Given the description of an element on the screen output the (x, y) to click on. 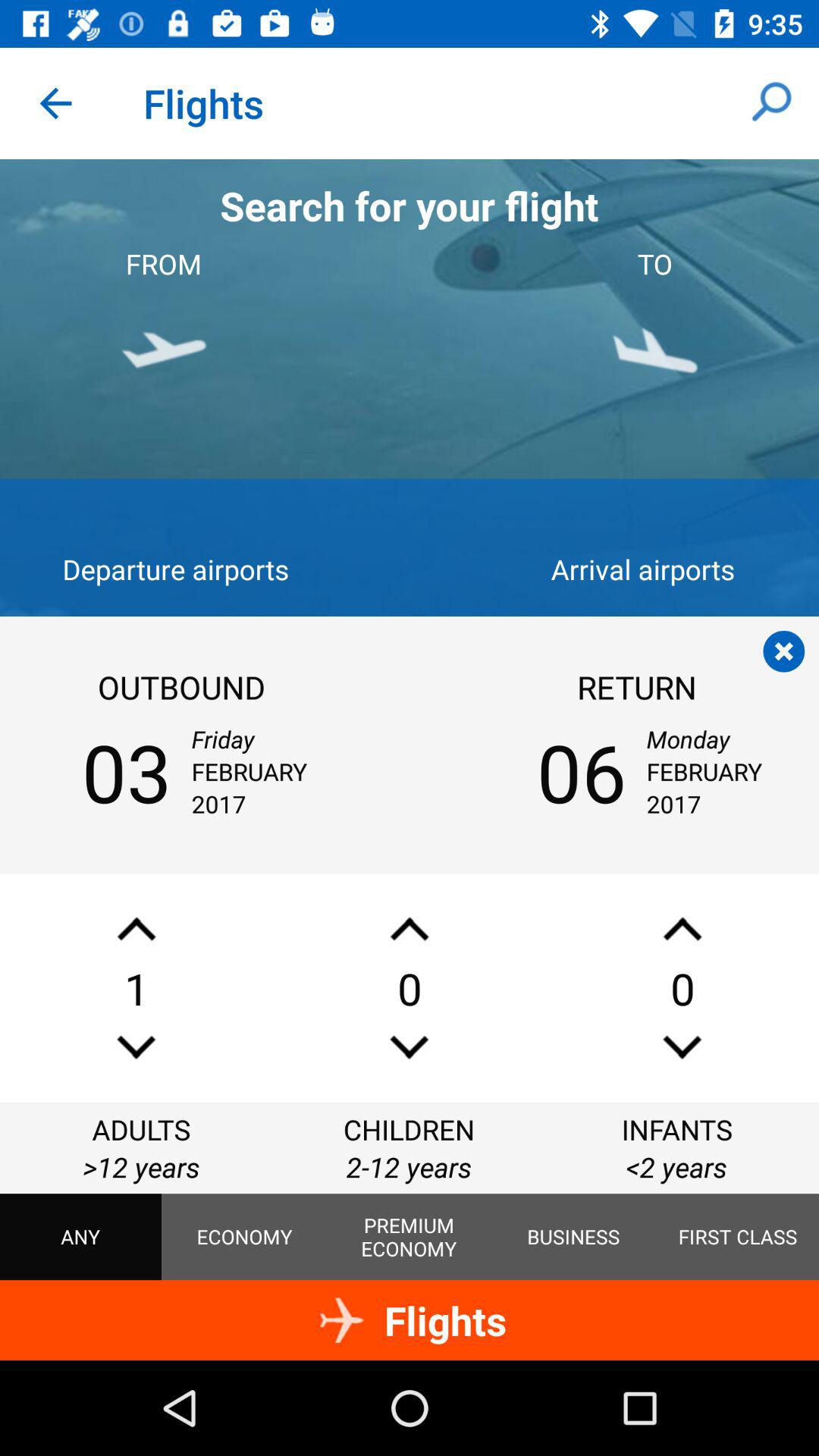
tap the icon below 2-12 years item (573, 1236)
